Given the description of an element on the screen output the (x, y) to click on. 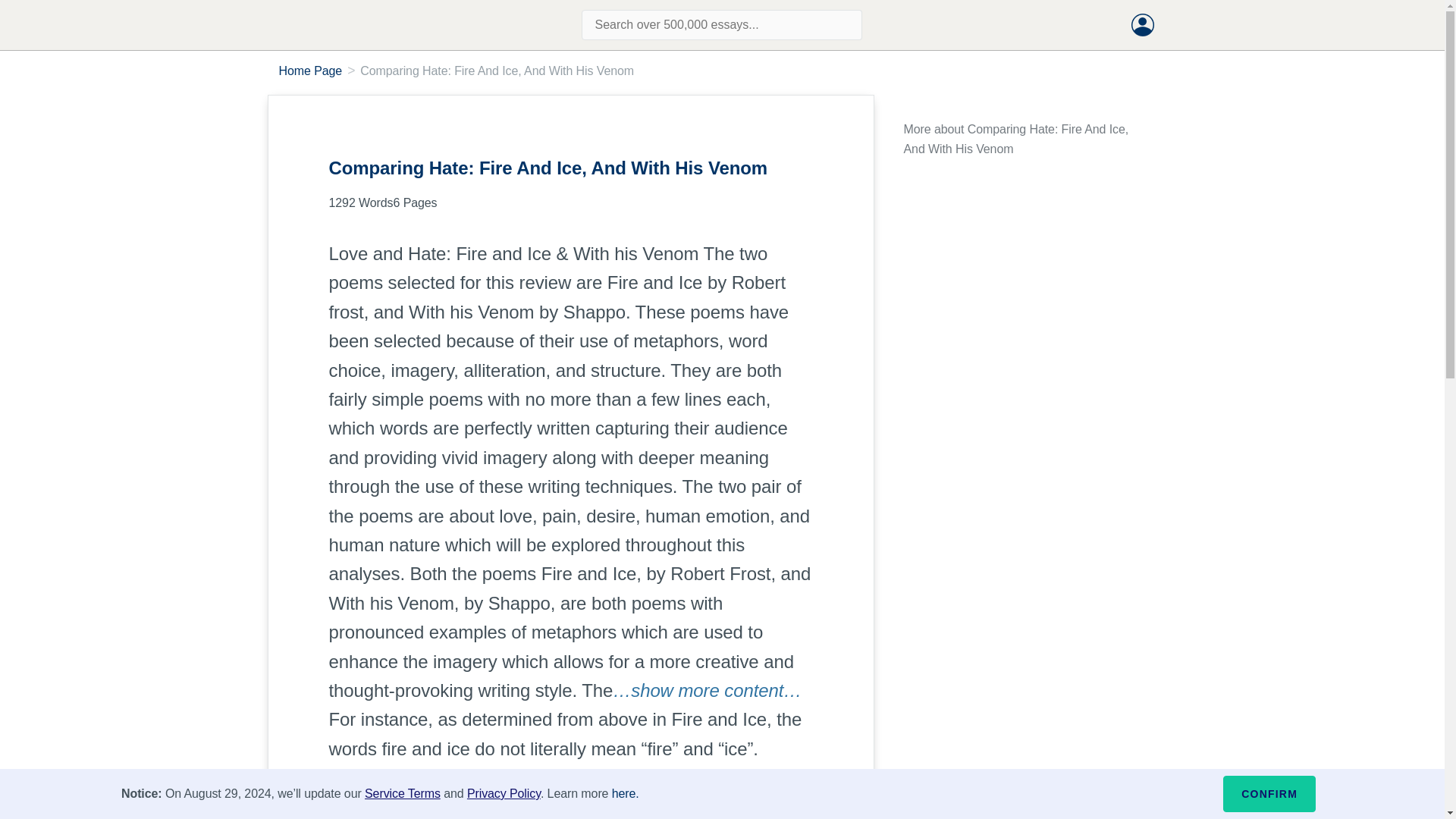
CONFIRM (1269, 793)
Home Page (310, 70)
here. (625, 793)
Service Terms (403, 793)
Privacy Policy (503, 793)
